Given the description of an element on the screen output the (x, y) to click on. 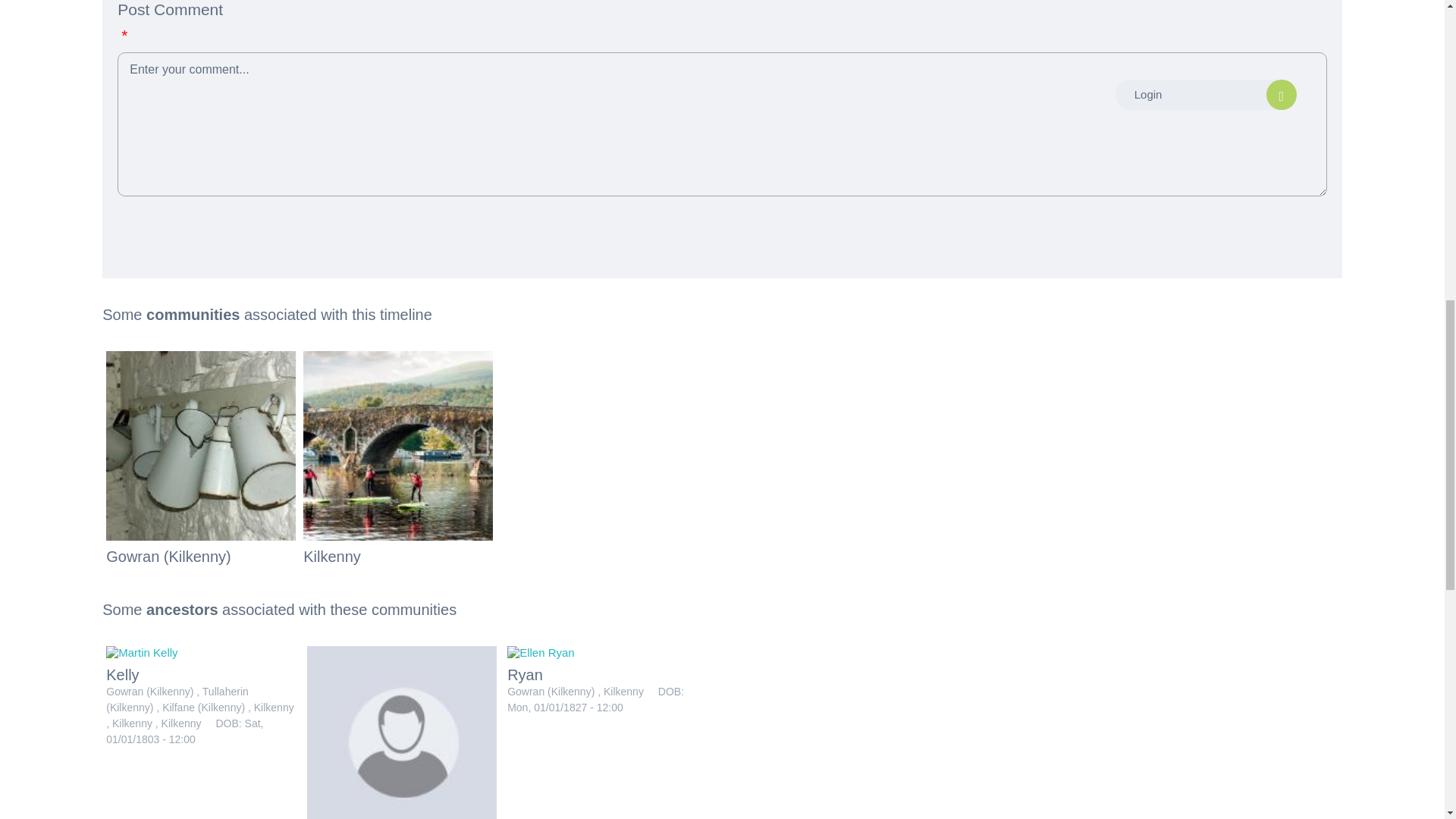
Ellen Ryan (540, 652)
Michael  James Cummings  (401, 732)
Martin Kelly (141, 652)
